Given the description of an element on the screen output the (x, y) to click on. 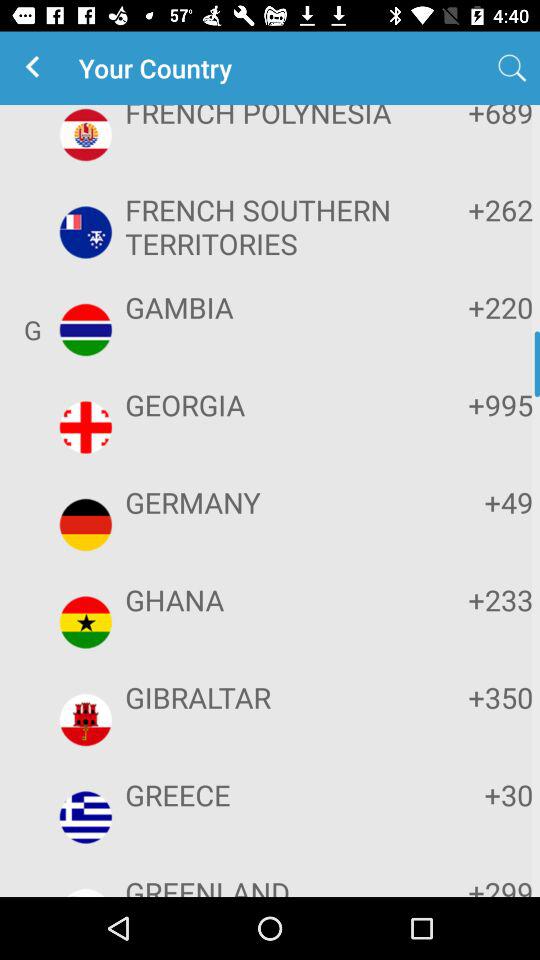
select the item above georgia app (267, 307)
